Given the description of an element on the screen output the (x, y) to click on. 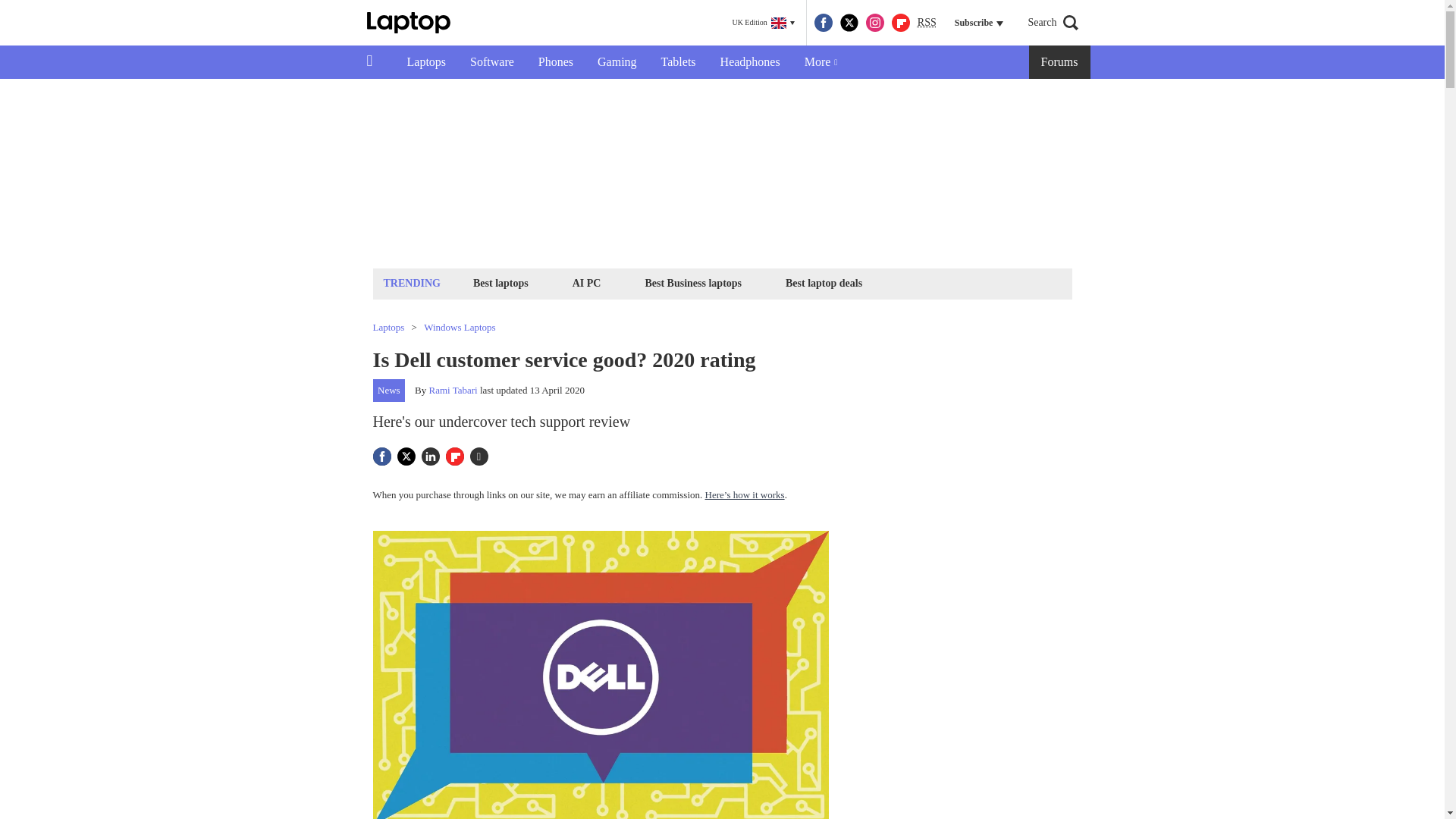
AI PC (587, 282)
Best laptop deals (823, 282)
Really Simple Syndication (926, 21)
Laptops (426, 61)
Headphones (749, 61)
Gaming (617, 61)
UK Edition (762, 22)
Software (491, 61)
RSS (926, 22)
Best Business laptops (692, 282)
